Given the description of an element on the screen output the (x, y) to click on. 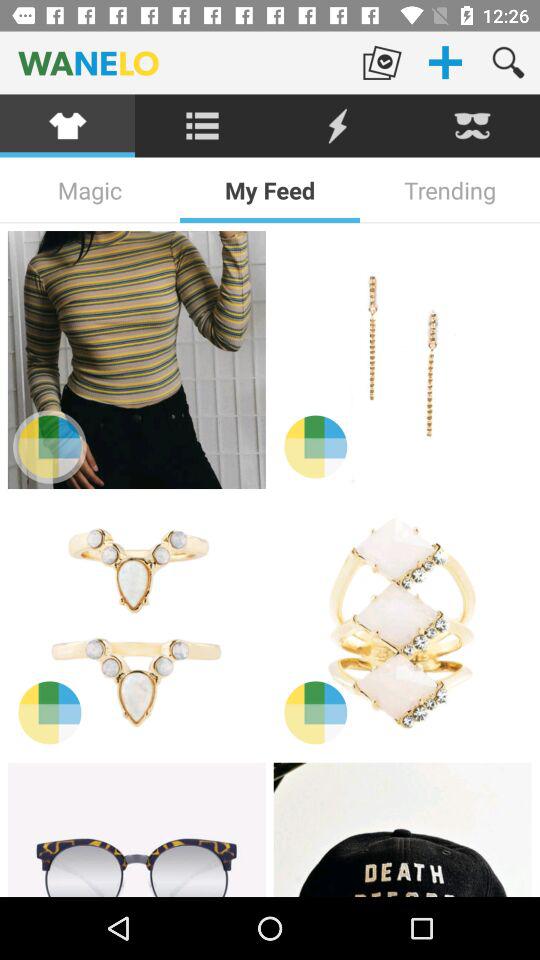
explore menu options (202, 125)
